Given the description of an element on the screen output the (x, y) to click on. 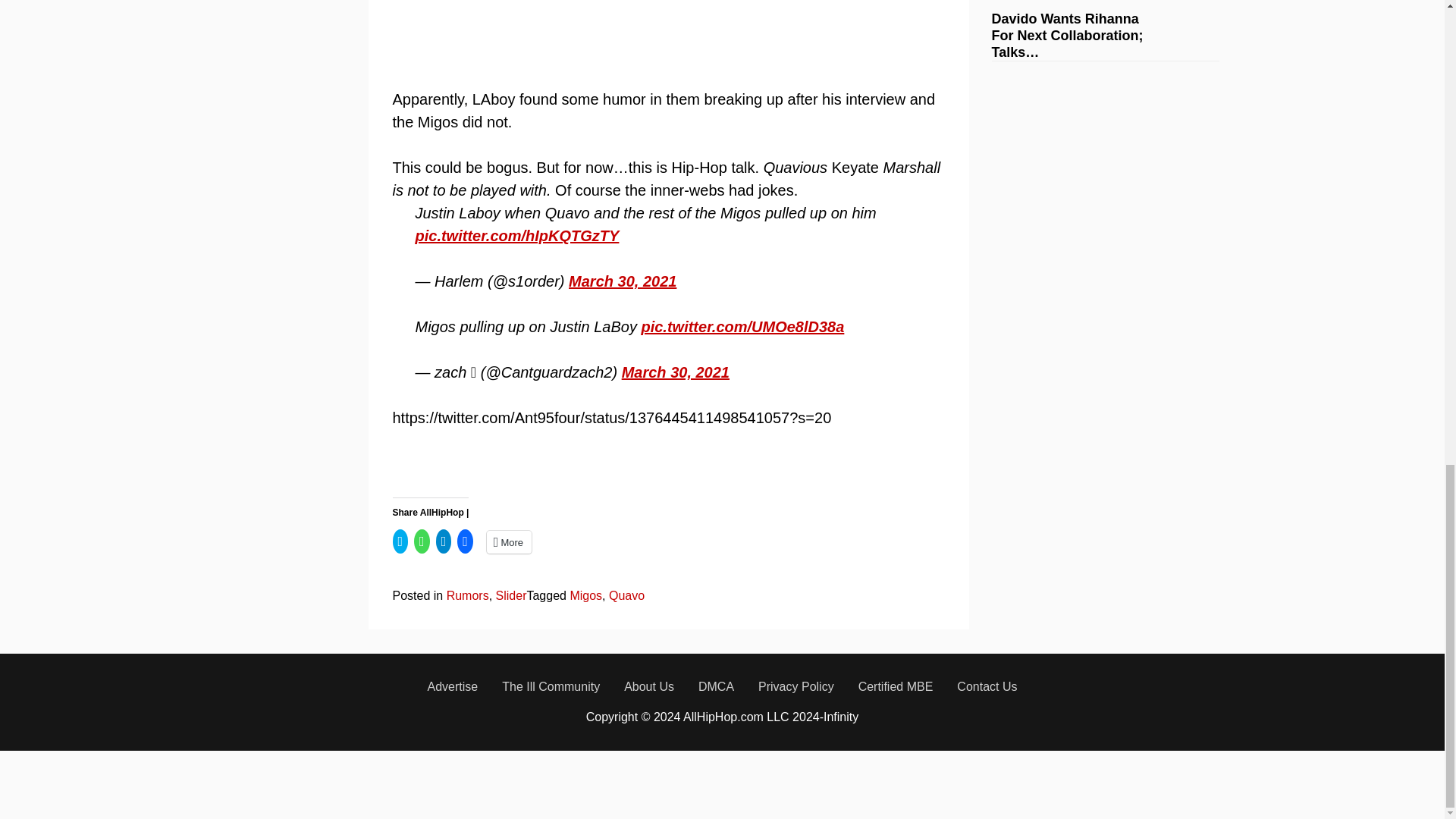
Click to share on WhatsApp (421, 541)
Click to share on Telegram (443, 541)
YouTube player (631, 33)
Click to share on Twitter (401, 541)
Click to share on Facebook (465, 541)
